Given the description of an element on the screen output the (x, y) to click on. 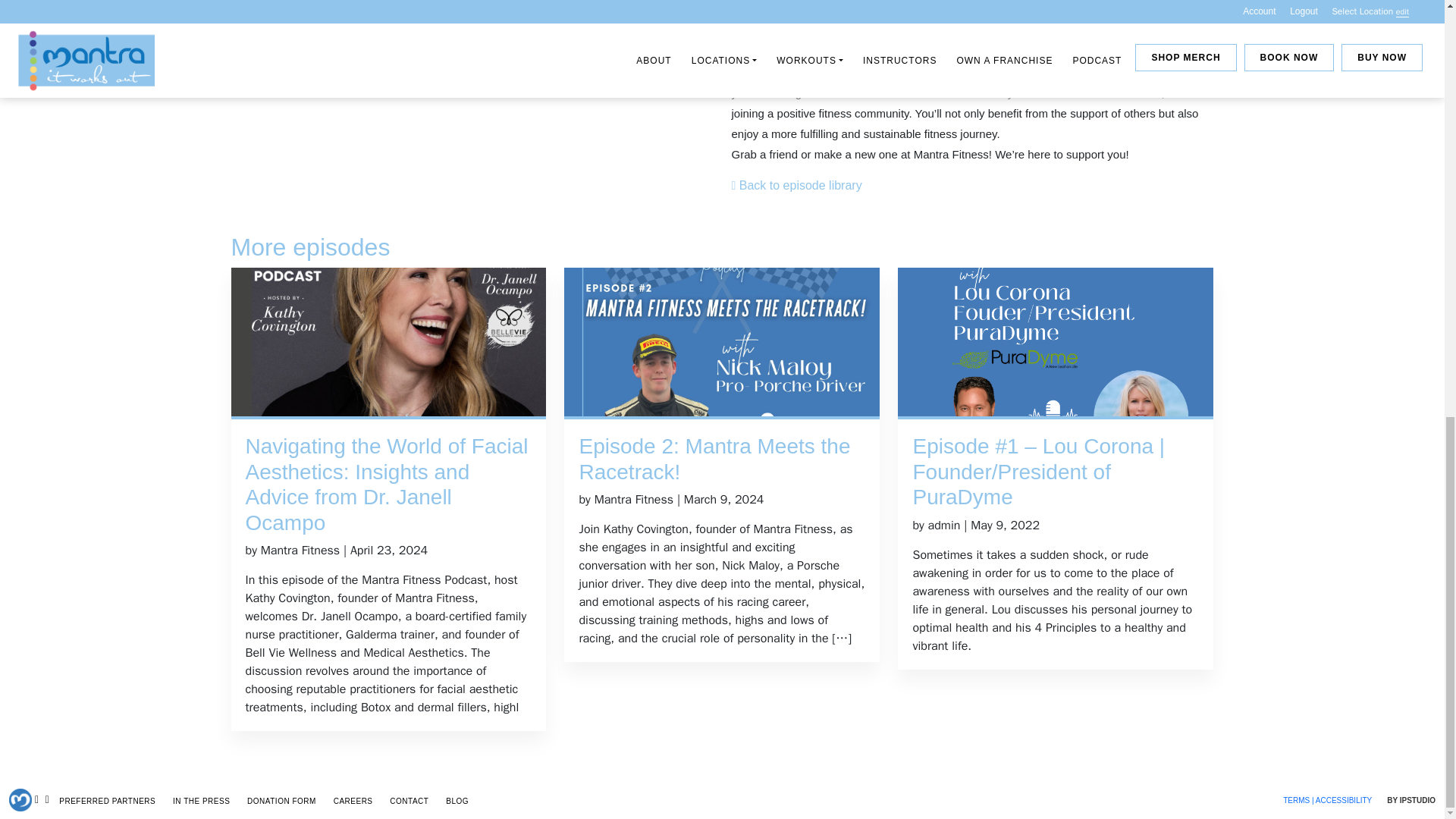
Back to episode library (795, 185)
Episode 2: Mantra Meets the Racetrack! (721, 459)
